Given the description of an element on the screen output the (x, y) to click on. 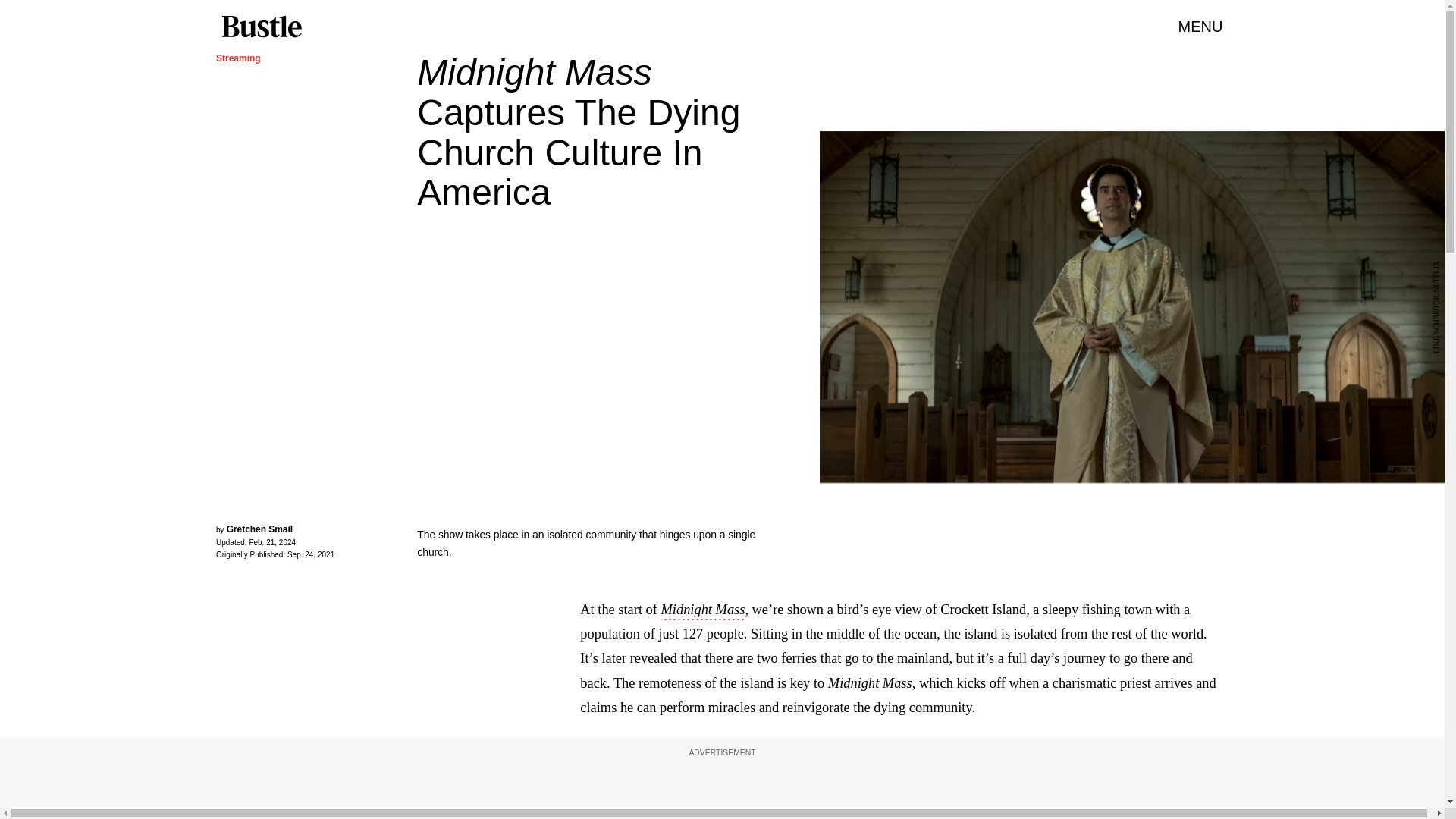
Gretchen Smail (259, 529)
Bustle (261, 26)
Midnight Mass (703, 610)
